Given the description of an element on the screen output the (x, y) to click on. 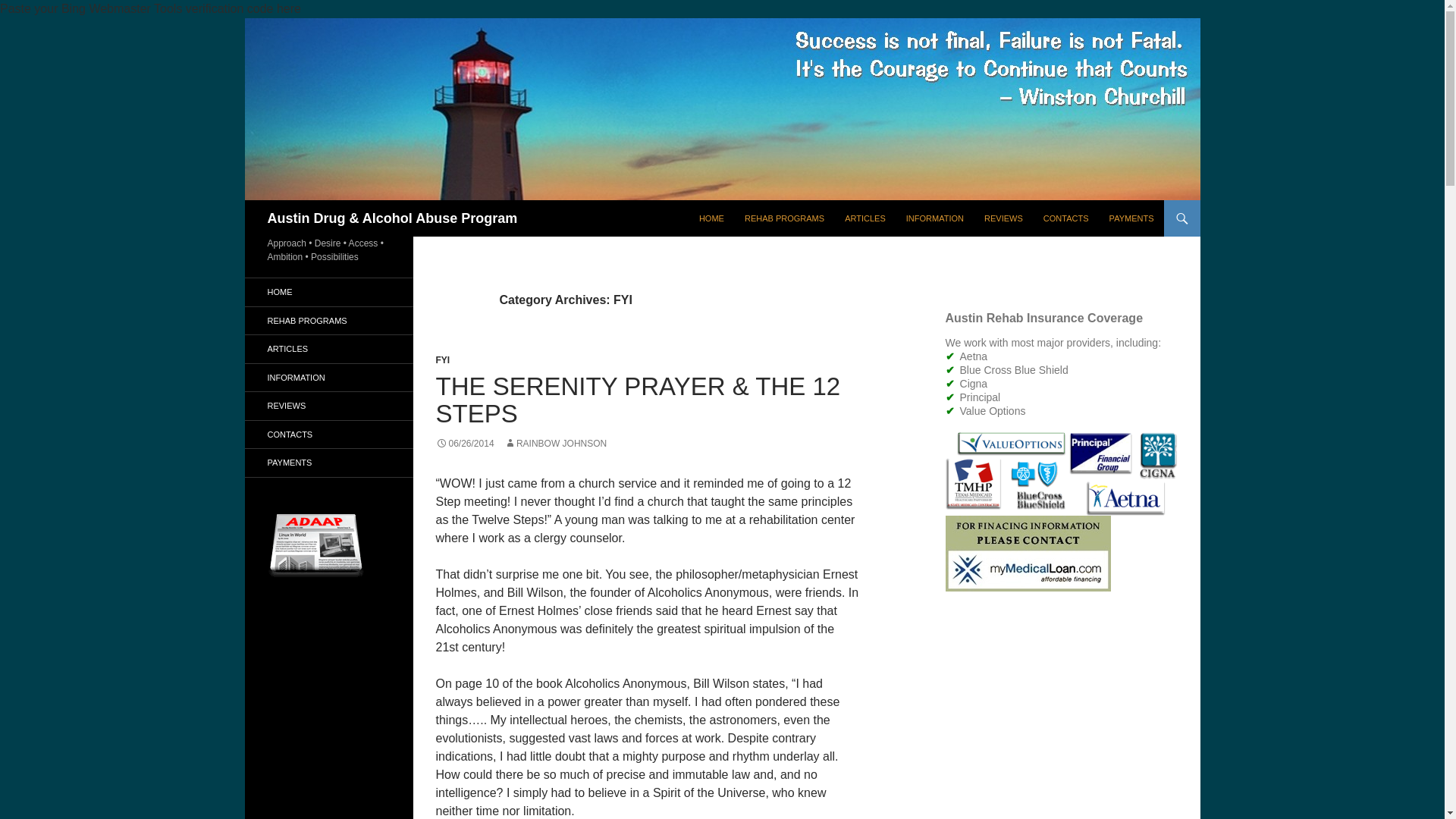
ARTICLES (865, 217)
REVIEWS (328, 406)
PAYMENTS (1131, 217)
ADAAP HQ (711, 217)
CONTACTS (1065, 217)
INFORMATION (934, 217)
HOME (328, 292)
How We Rate with our Clients (328, 406)
ARTICLES (328, 348)
HOME (711, 217)
ADAAP has the right Alcohol Abuse Program for you! (328, 320)
Initiate an OnLine, Secure PayPal  Transaction.. (328, 462)
FYI (442, 359)
